Given the description of an element on the screen output the (x, y) to click on. 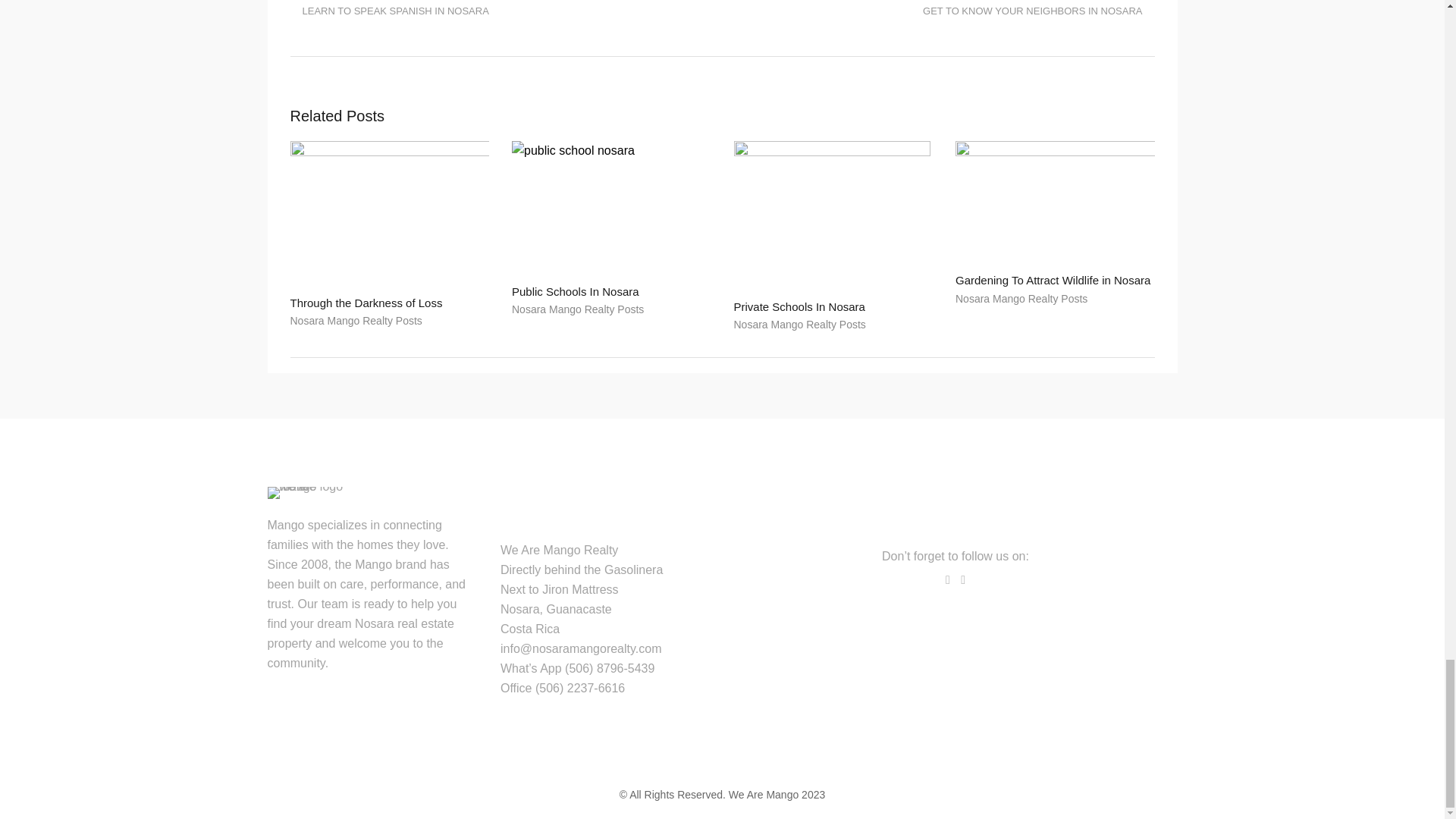
Gardening To Attract Wildlife in Nosara (1054, 200)
Public Schools In Nosara (575, 291)
Through the Darkness of Loss (365, 302)
Gardening To Attract Wildlife in Nosara (1052, 279)
Private Schools In Nosara (798, 306)
Private Schools In Nosara (833, 214)
Through the Darkness of Loss (389, 212)
Public Schools In Nosara (611, 206)
